Given the description of an element on the screen output the (x, y) to click on. 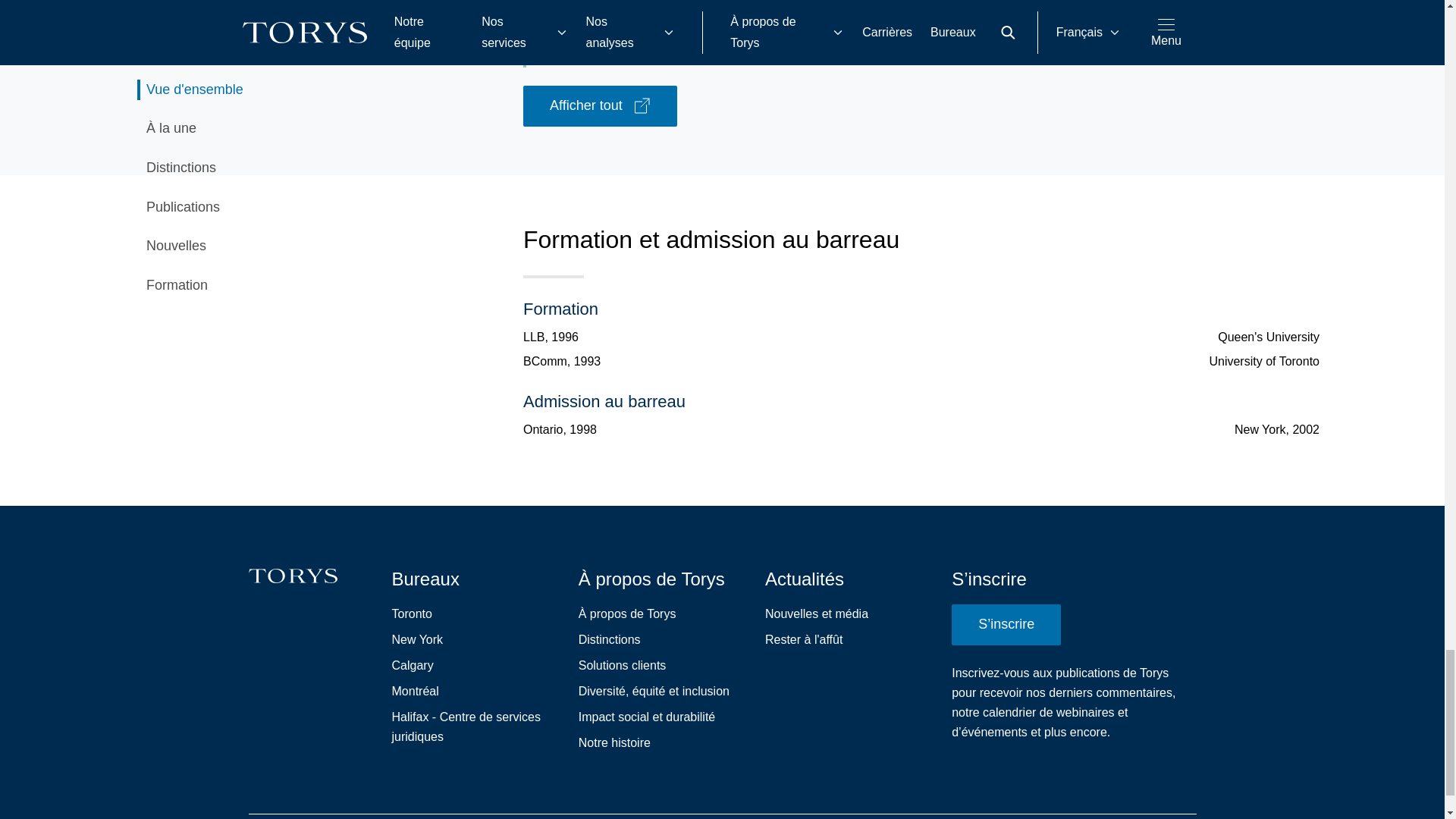
New York Office Page (416, 639)
Toronto Office Page (410, 614)
Montreal Office Page (414, 691)
Calgary Office Page (411, 665)
